Given the description of an element on the screen output the (x, y) to click on. 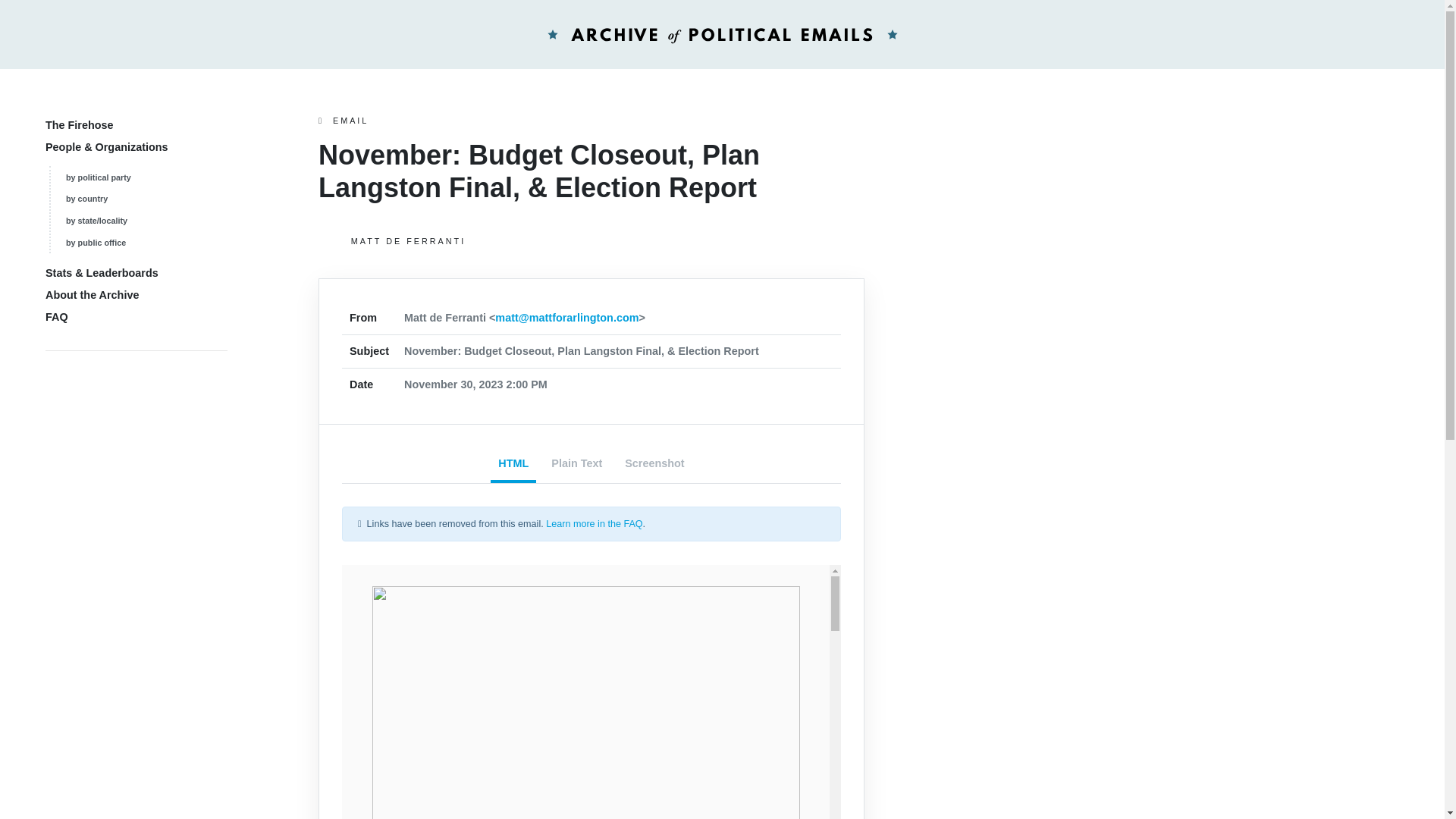
HTML (512, 465)
Screenshot (654, 465)
by public office (95, 242)
FAQ (56, 316)
Learn more in the FAQ (594, 523)
by political party (98, 176)
The Firehose (79, 124)
by country (86, 198)
About the Archive (91, 295)
MATT DE FERRANTI (591, 241)
